Given the description of an element on the screen output the (x, y) to click on. 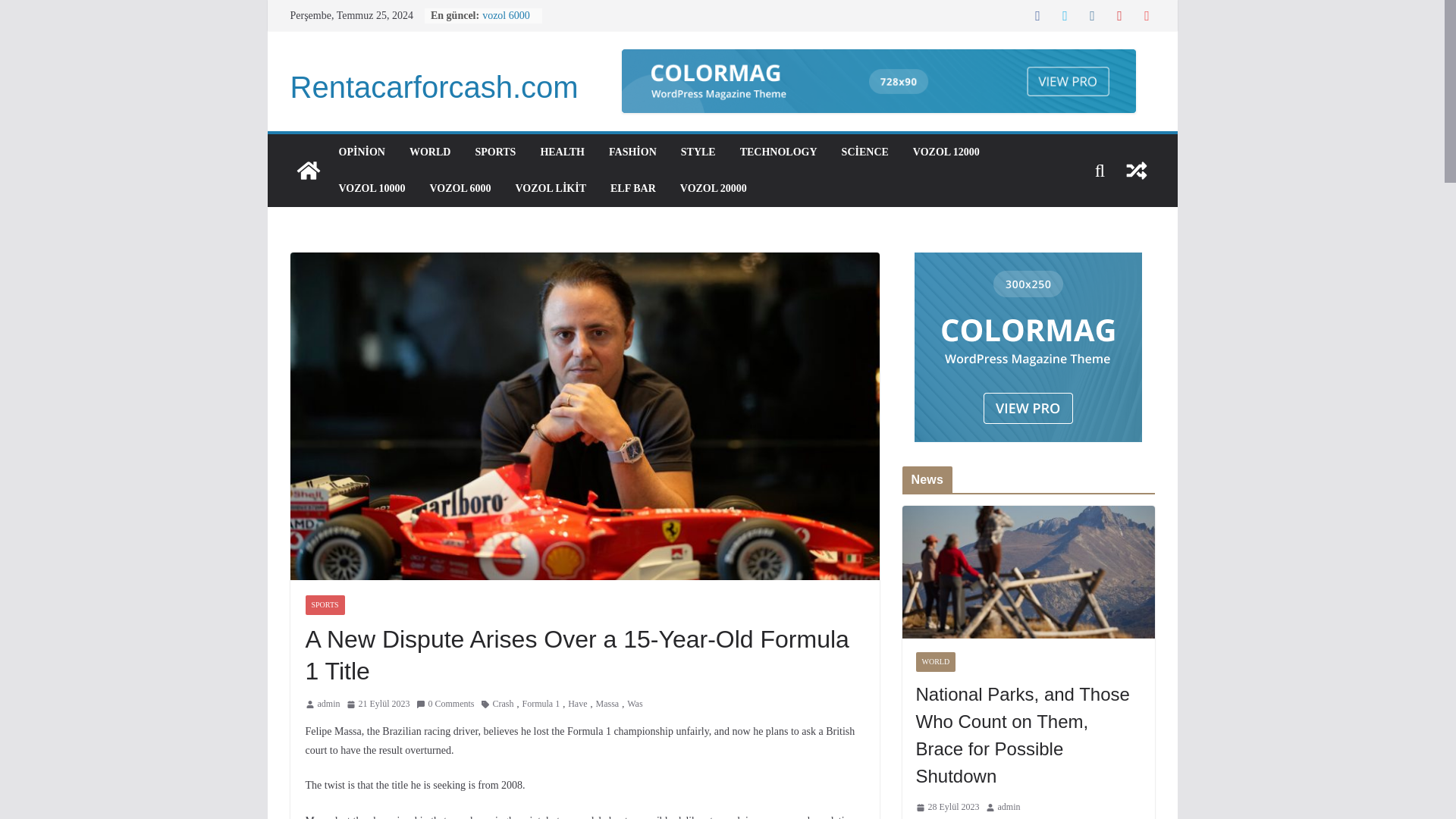
0 Comments (444, 704)
admin (328, 704)
HEALTH (562, 151)
Rentacarforcash.com (433, 87)
VOZOL 10000 (370, 188)
VOZOL 12000 (945, 151)
SCIENCE (864, 151)
ELF BAR (633, 188)
Massa (607, 704)
TECHNOLOGY (777, 151)
01:54 (377, 704)
Formula 1 (541, 704)
Rentacarforcash.com (433, 87)
Was (634, 704)
SPORTS (494, 151)
